Given the description of an element on the screen output the (x, y) to click on. 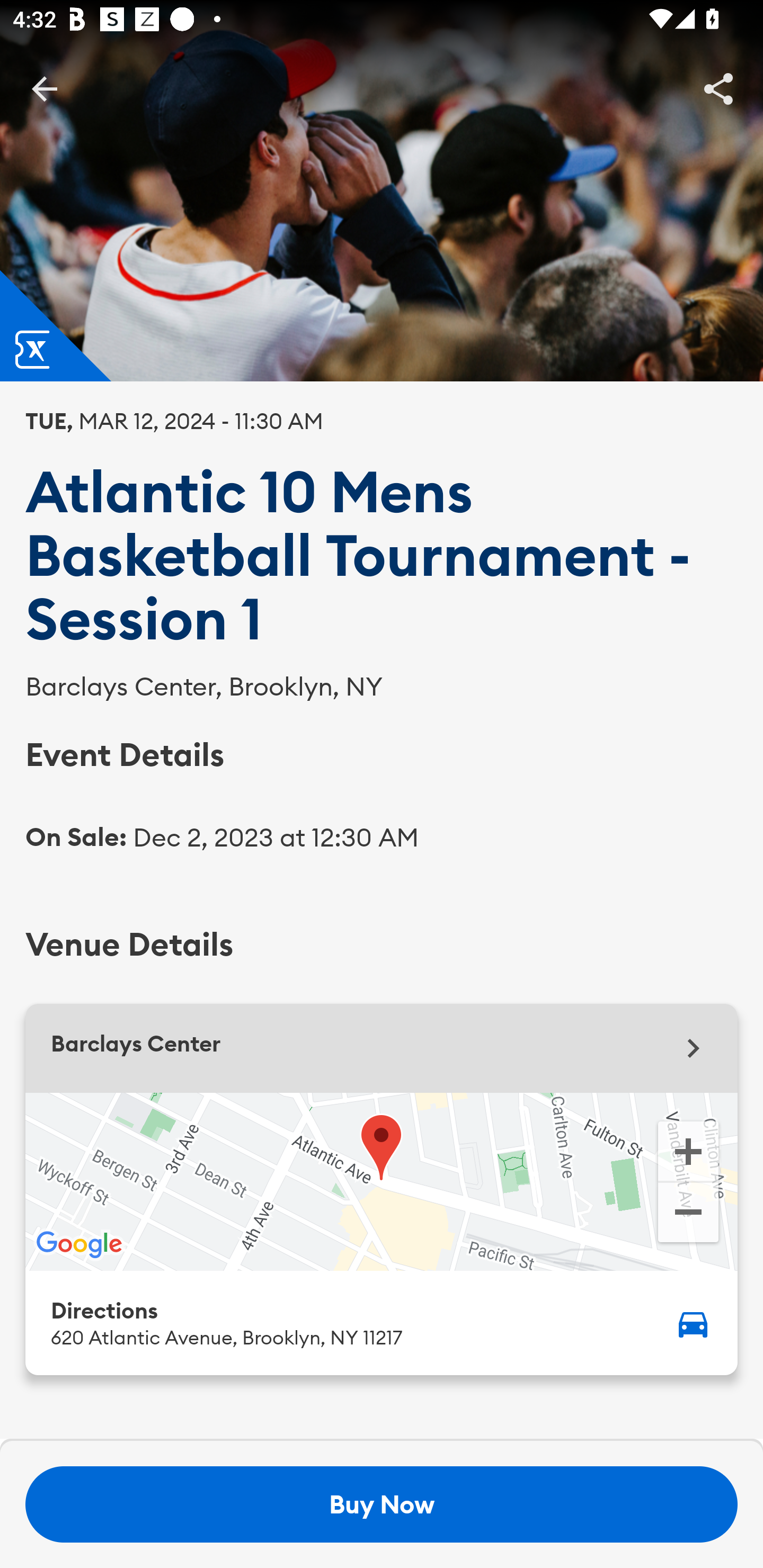
BackButton (44, 88)
Share (718, 88)
Barclays Center (381, 1047)
Google Map Barclays Center.  Zoom in Zoom out (381, 1181)
Zoom in (687, 1149)
Zoom out (687, 1214)
Directions 620 Atlantic Avenue, Brooklyn, NY 11217 (381, 1322)
Buy Now (381, 1504)
